Given the description of an element on the screen output the (x, y) to click on. 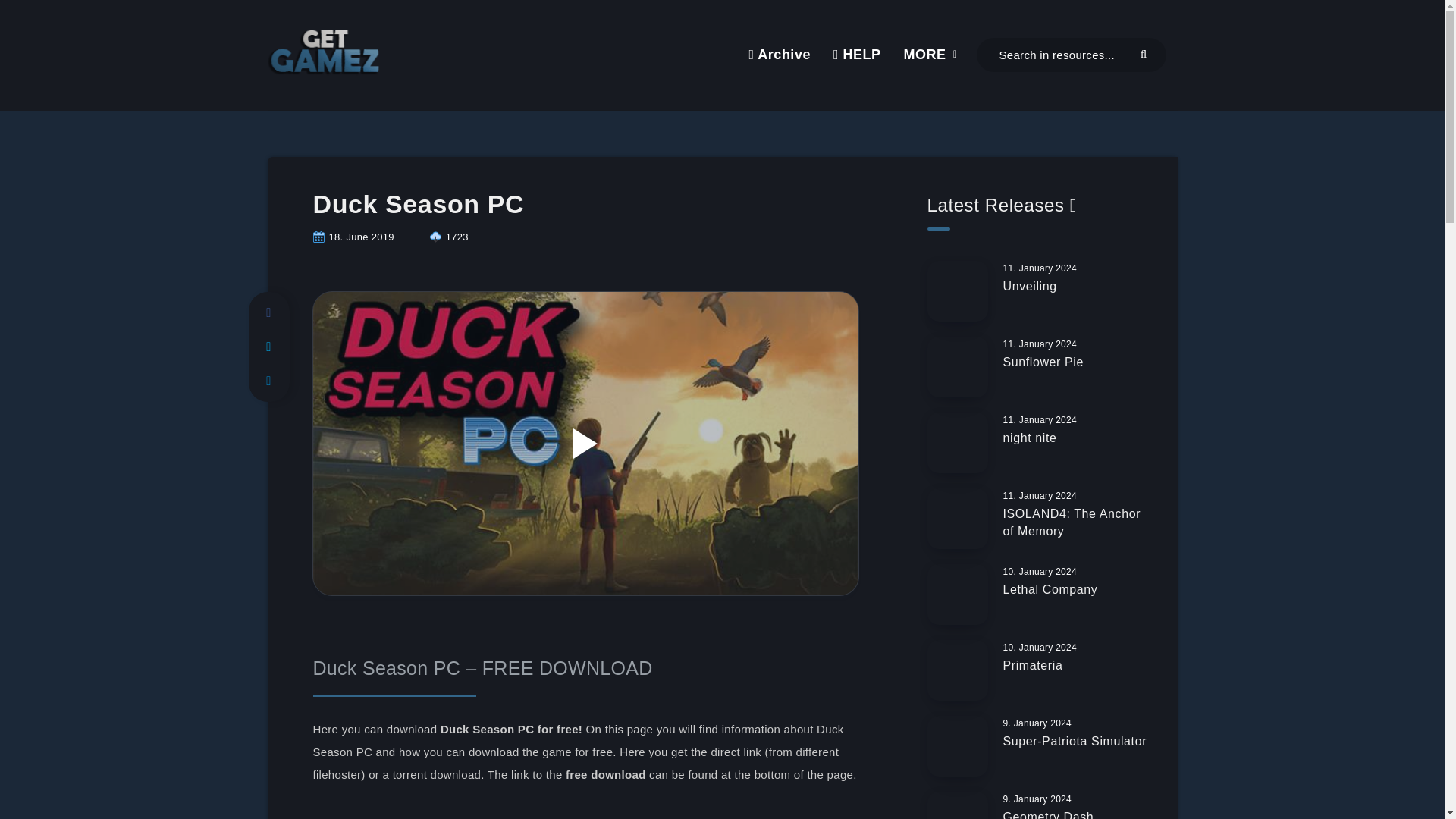
HELP (856, 54)
Super-Patriota Simulator (1075, 742)
Archive (778, 54)
ISOLAND4: The Anchor of Memory (1071, 523)
MORE (925, 54)
Primateria (1032, 667)
Geometry Dash (1048, 814)
Archive (778, 54)
Unveiling (1030, 288)
night nite (1030, 439)
Sunflower Pie (1043, 363)
Downloads (448, 236)
Lethal Company (1050, 591)
